Given the description of an element on the screen output the (x, y) to click on. 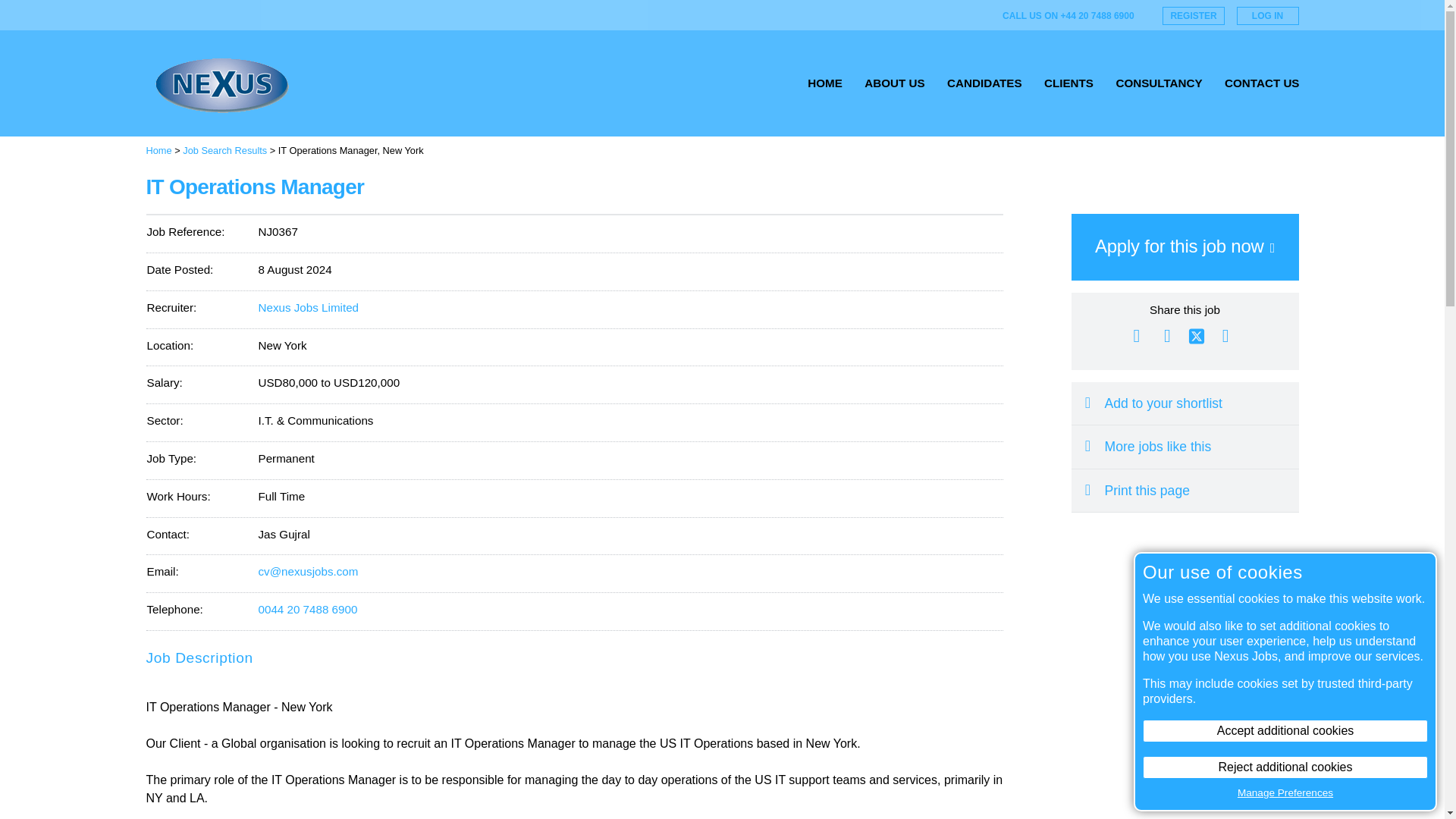
Follow us on Facebook (945, 15)
FOLLOW US ON LINKEDIN (967, 15)
Accept additional cookies (1285, 730)
Facebook (1166, 335)
More jobs like this (1184, 446)
Print this page (1184, 490)
FOLLOW US ON FACEBOOK (945, 15)
LinkedIn (1224, 335)
Email (1135, 335)
Reject additional cookies (1285, 766)
